Given the description of an element on the screen output the (x, y) to click on. 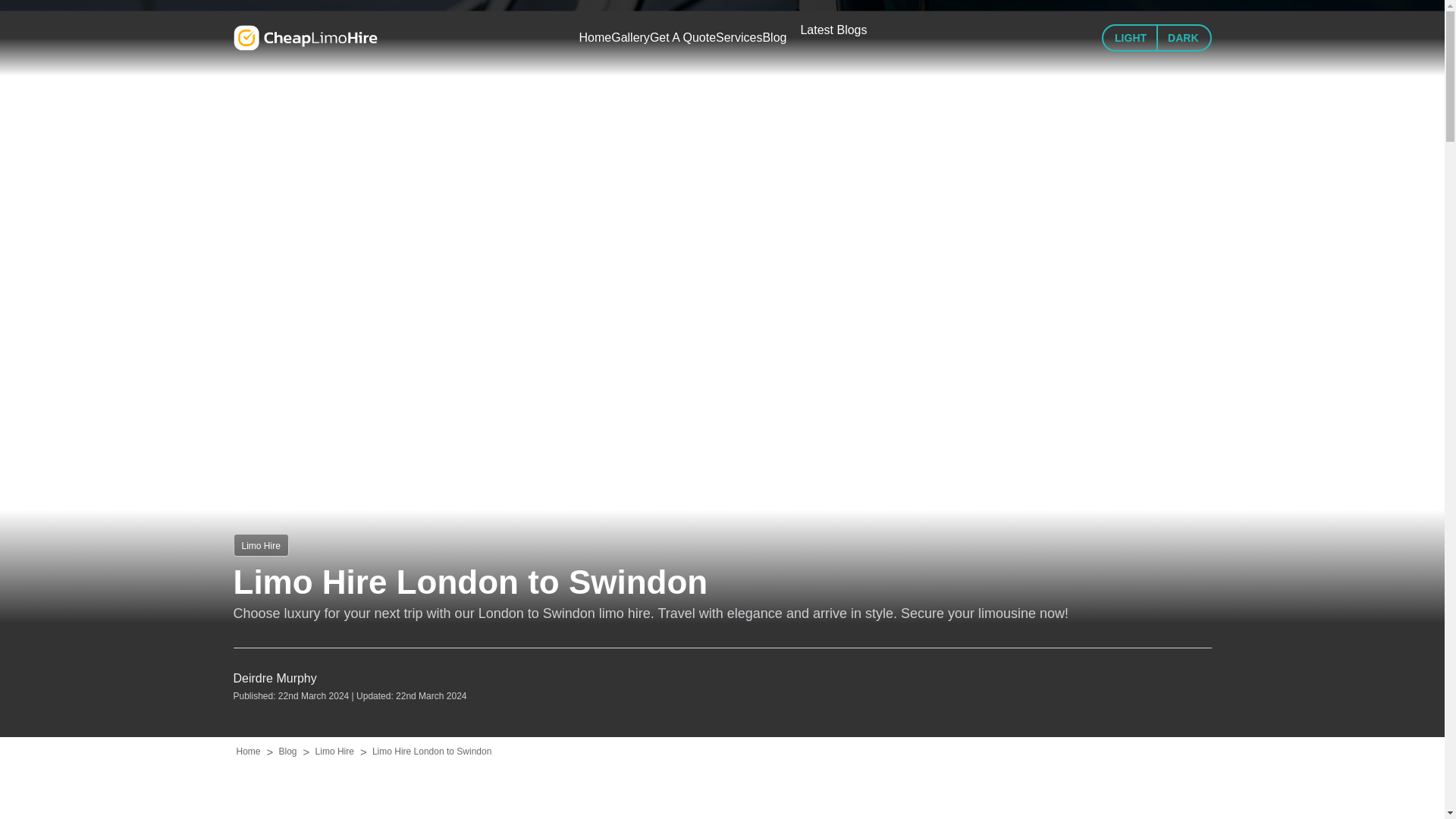
Latest Blogs (832, 30)
Get A Quote (682, 37)
Get A Quote (682, 37)
Cheap Limo Hire (304, 37)
Latest Blogs (832, 30)
